Given the description of an element on the screen output the (x, y) to click on. 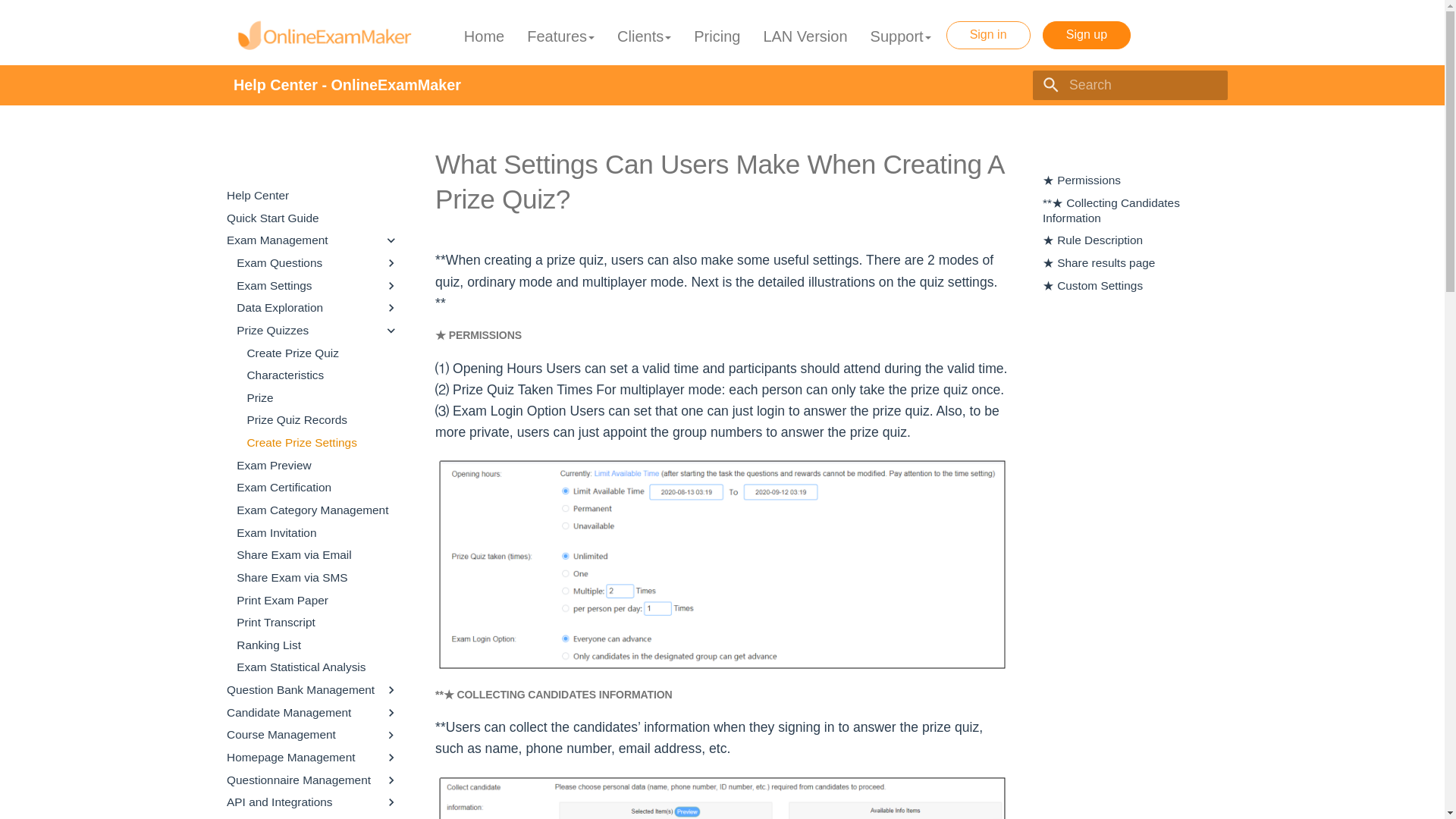
Clients (643, 37)
Home (483, 37)
Sign up (1086, 35)
LAN Version (805, 37)
Features (560, 37)
Sign in (988, 35)
